Given the description of an element on the screen output the (x, y) to click on. 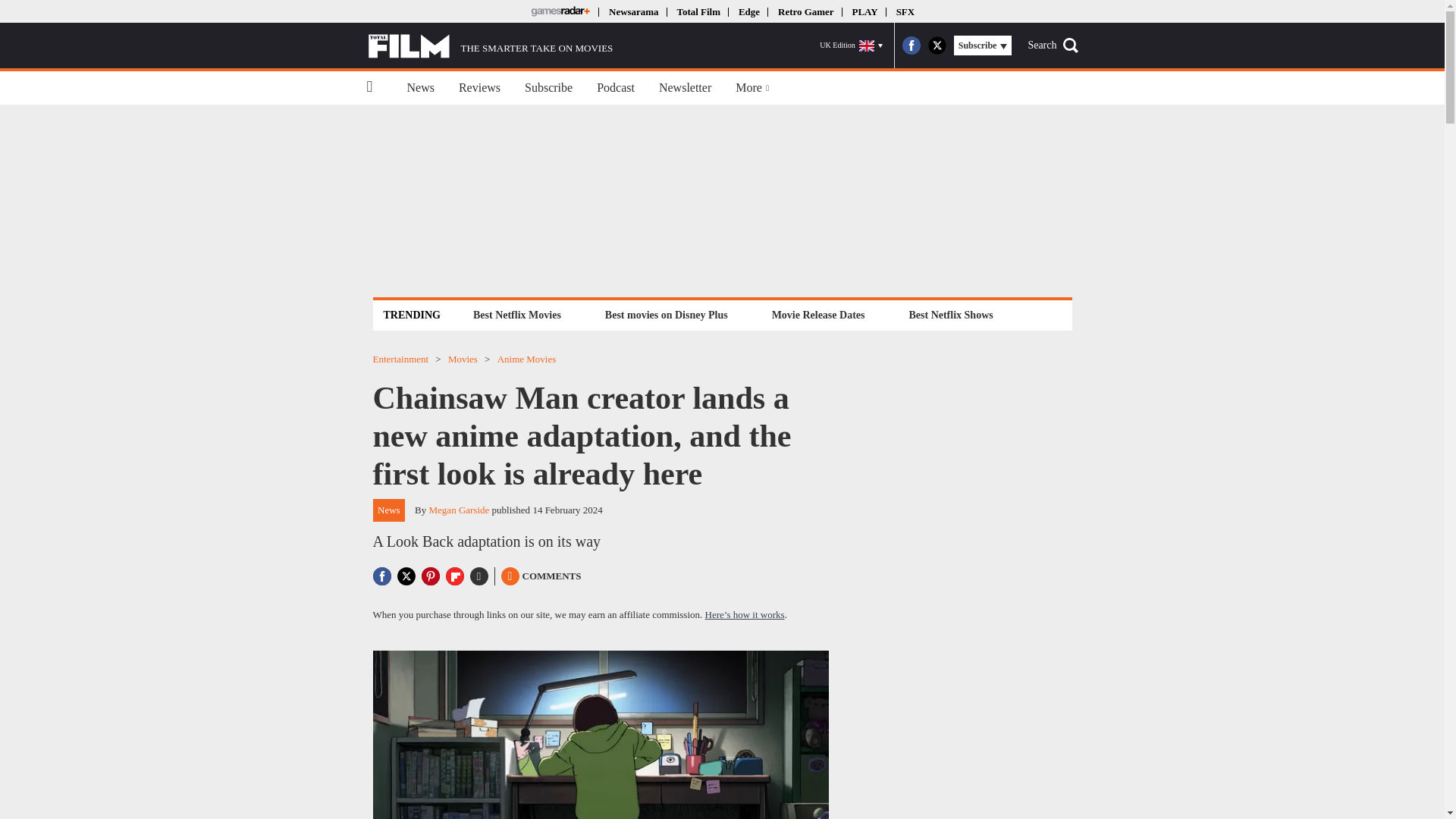
Best movies on Disney Plus (666, 314)
Subscribe (548, 87)
UK Edition (850, 45)
Newsarama (633, 11)
Retro Gamer (805, 11)
THE SMARTER TAKE ON MOVIES (489, 44)
Newsletter (684, 87)
SFX (905, 11)
Podcast (615, 87)
Movie Release Dates (818, 314)
